Given the description of an element on the screen output the (x, y) to click on. 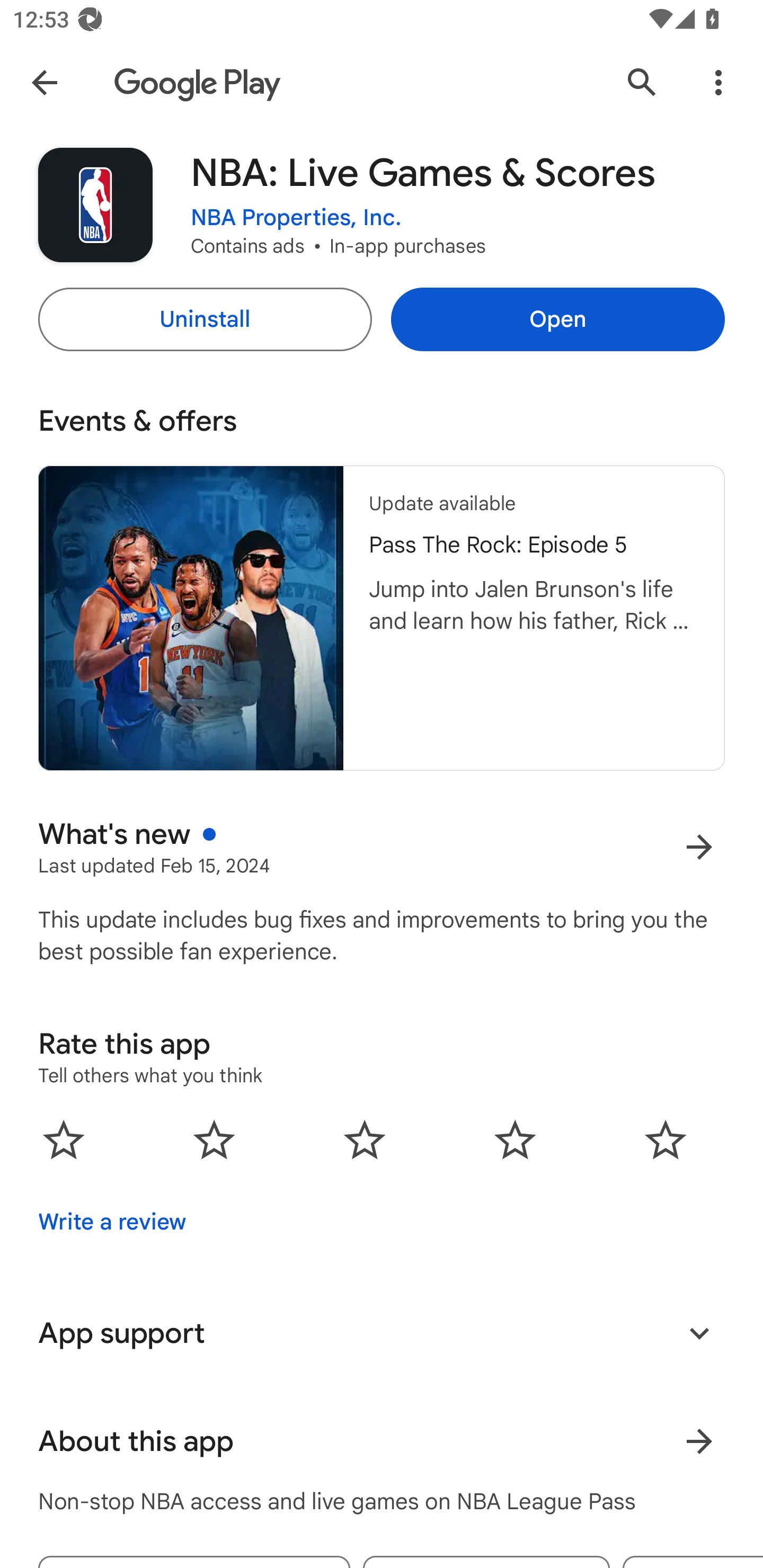
Navigate up (44, 81)
Search Google Play (642, 81)
More Options (718, 81)
NBA Properties, Inc. (295, 217)
Uninstall (205, 318)
Open (557, 318)
More results for What's new (699, 847)
0.0 (364, 1138)
Write a review (112, 1221)
App support Expand (381, 1333)
Expand (699, 1333)
About this app Learn more About this app (381, 1441)
Learn more About this app (699, 1441)
